Given the description of an element on the screen output the (x, y) to click on. 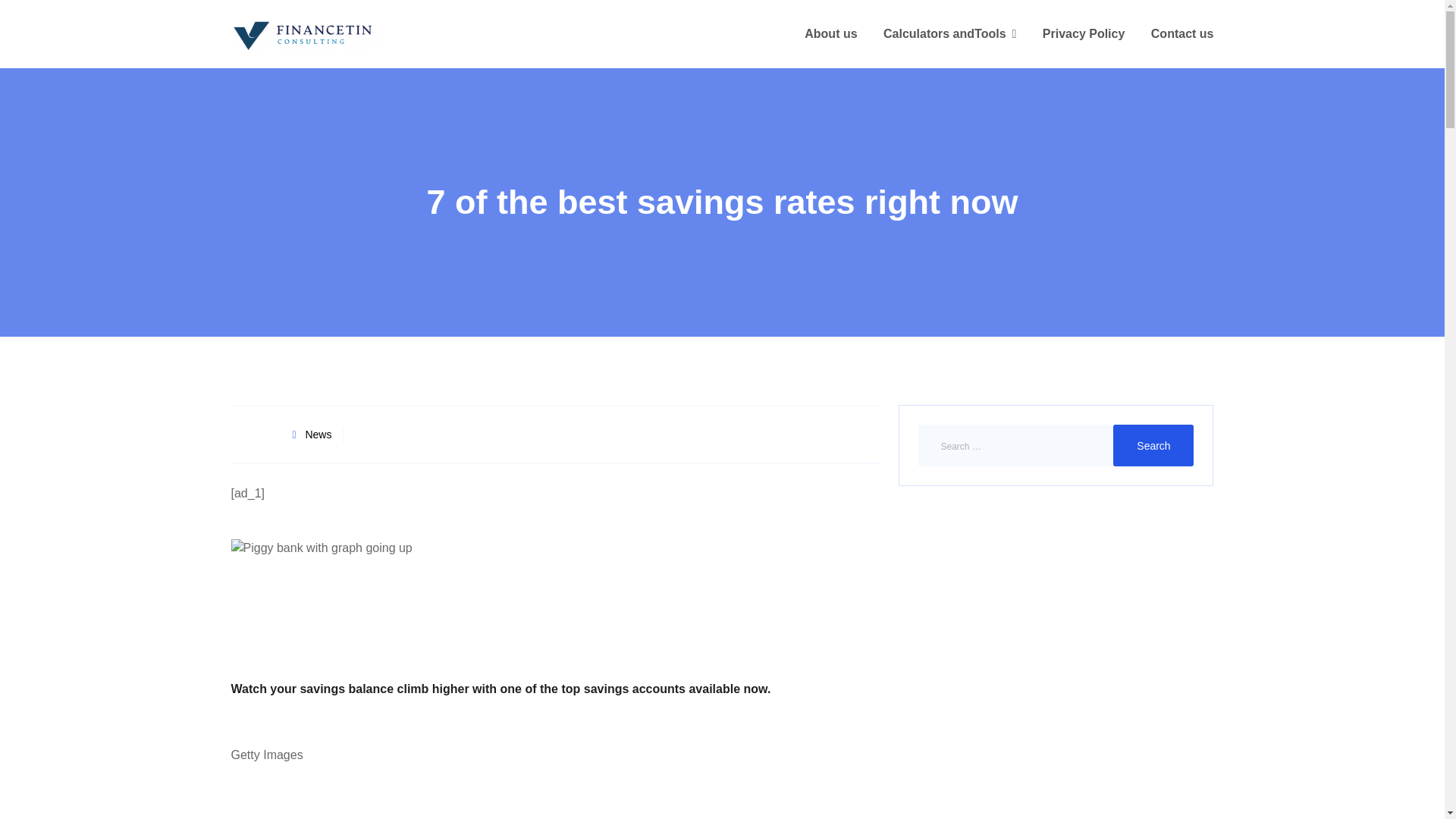
News (317, 434)
Search (1153, 445)
Contact us (1182, 34)
Search (1153, 445)
Search (1153, 445)
Calculators andTools (949, 34)
About us (831, 34)
Privacy Policy (1083, 34)
